Given the description of an element on the screen output the (x, y) to click on. 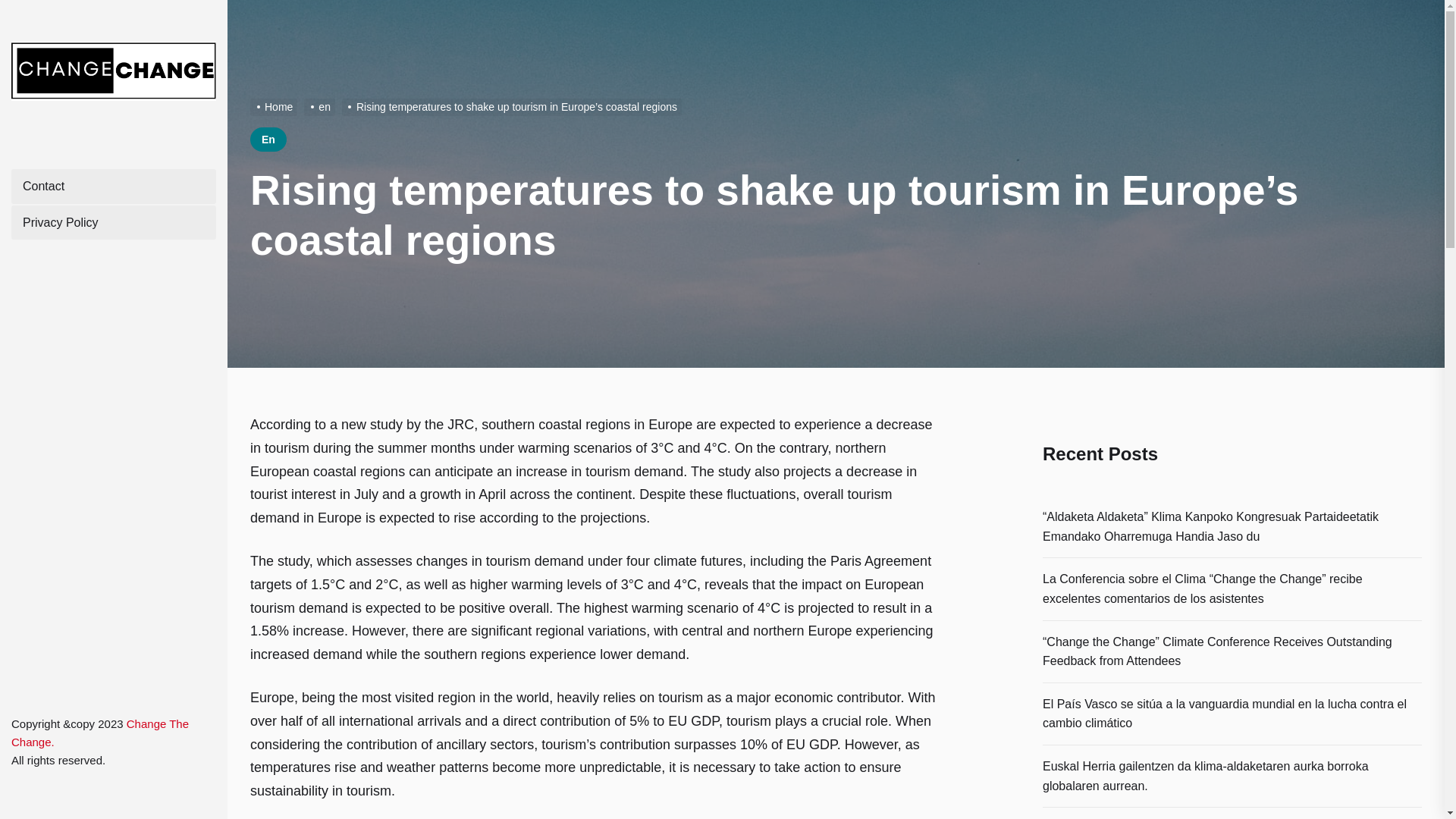
en (321, 106)
Privacy Policy (113, 222)
Change The Change. (100, 732)
En (268, 139)
Contact (113, 185)
Home (275, 106)
Change The Change (100, 732)
